Given the description of an element on the screen output the (x, y) to click on. 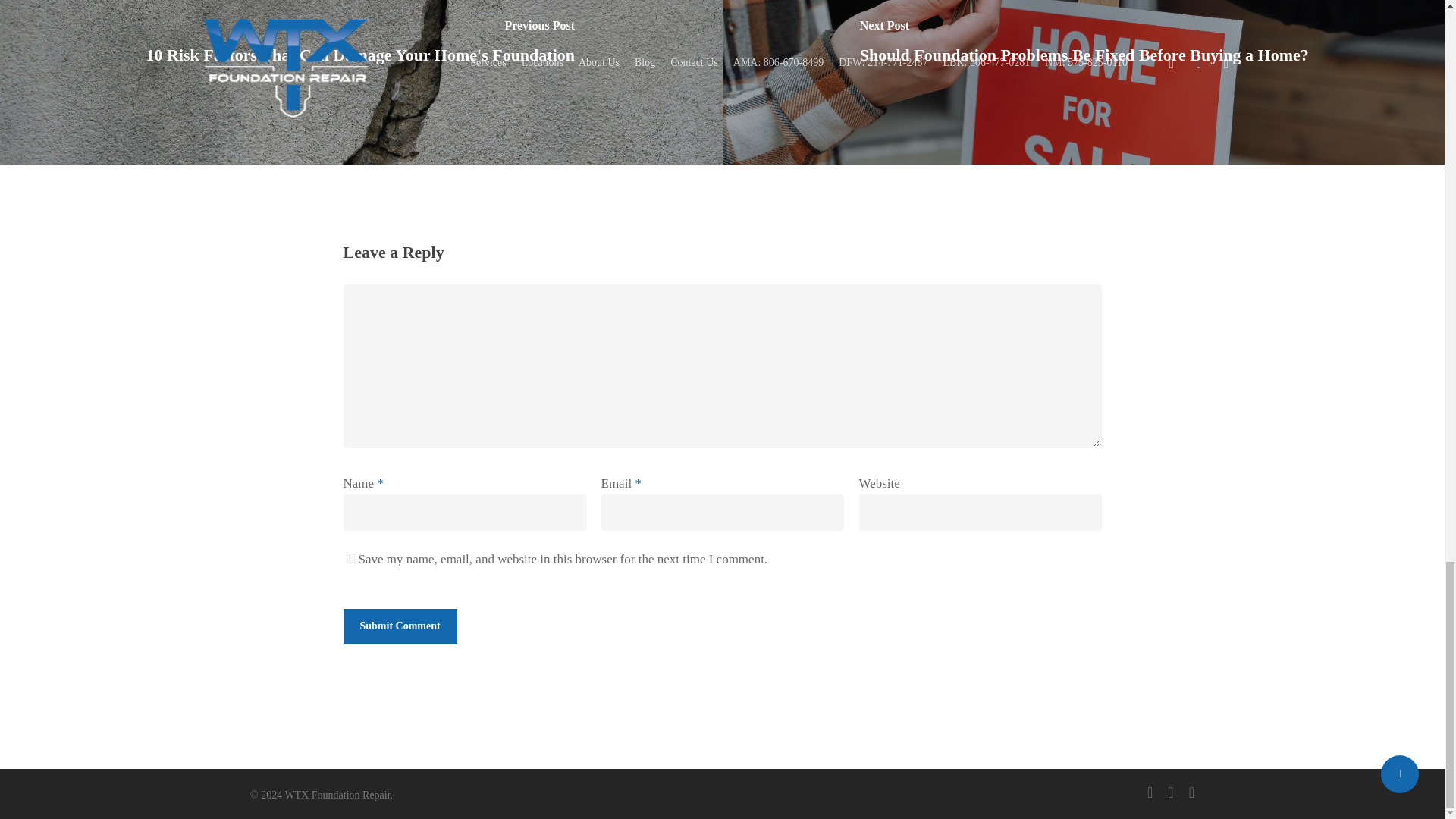
yes (350, 558)
Submit Comment (399, 626)
Submit Comment (399, 626)
